Given the description of an element on the screen output the (x, y) to click on. 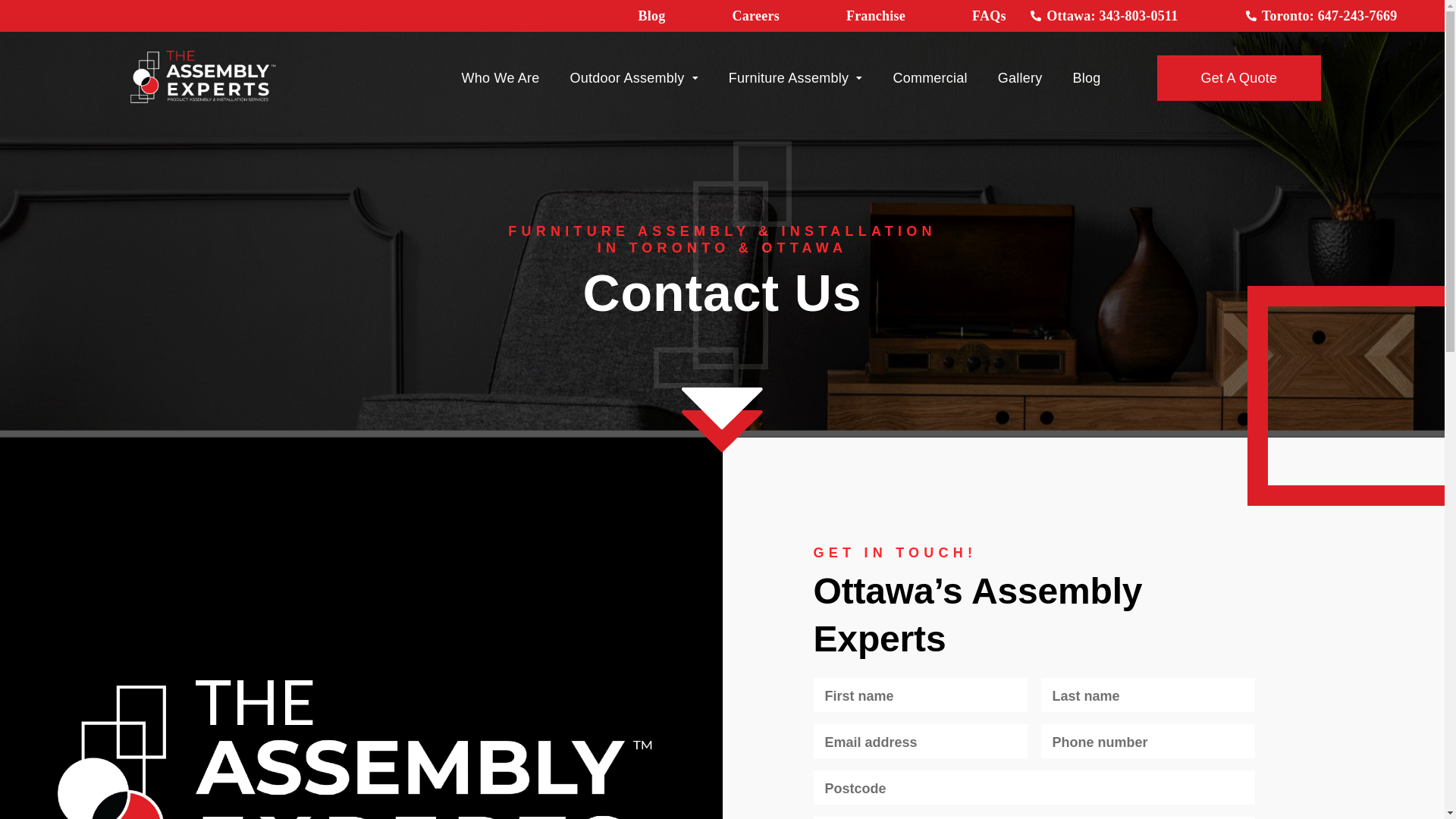
Franchise Element type: text (875, 15)
Gallery Element type: text (1019, 77)
Outdoor Assembly Element type: text (634, 77)
Who We Are Element type: text (500, 77)
Careers Element type: text (755, 15)
Ottawa: 343-803-0511 Element type: text (1103, 15)
Furniture Assembly Element type: text (795, 77)
Toronto: 647-243-7669 Element type: text (1320, 15)
Blog Element type: text (651, 15)
FAQs Element type: text (989, 15)
Blog Element type: text (1087, 77)
Commercial Element type: text (929, 77)
Get A Quote Element type: text (1239, 77)
